Given the description of an element on the screen output the (x, y) to click on. 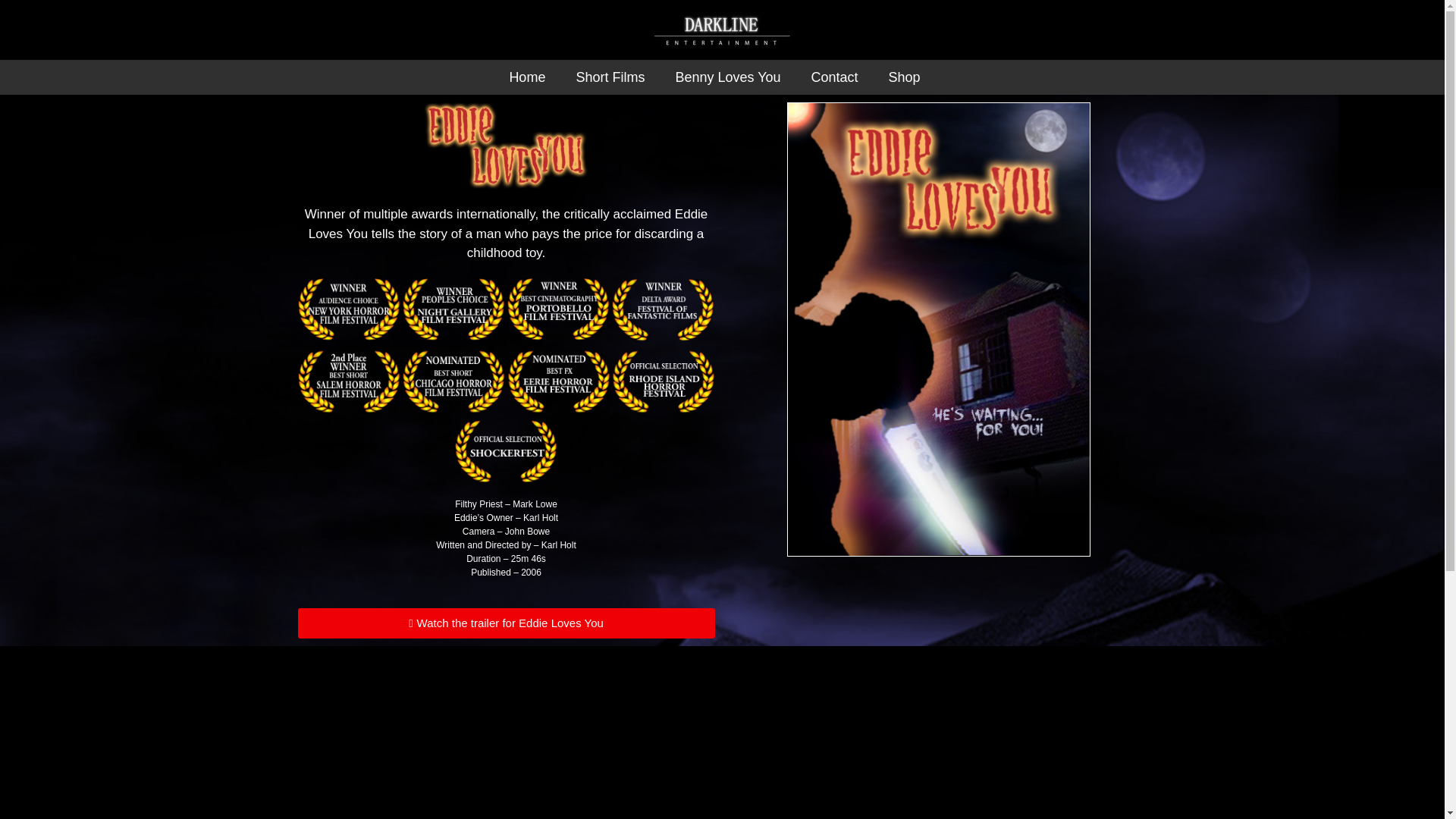
darkline-logo (721, 29)
Shop (904, 77)
Home (526, 77)
Contact (834, 77)
Benny Loves You (726, 77)
Watch the trailer for Eddie Loves You (505, 623)
Short Films (609, 77)
